Given the description of an element on the screen output the (x, y) to click on. 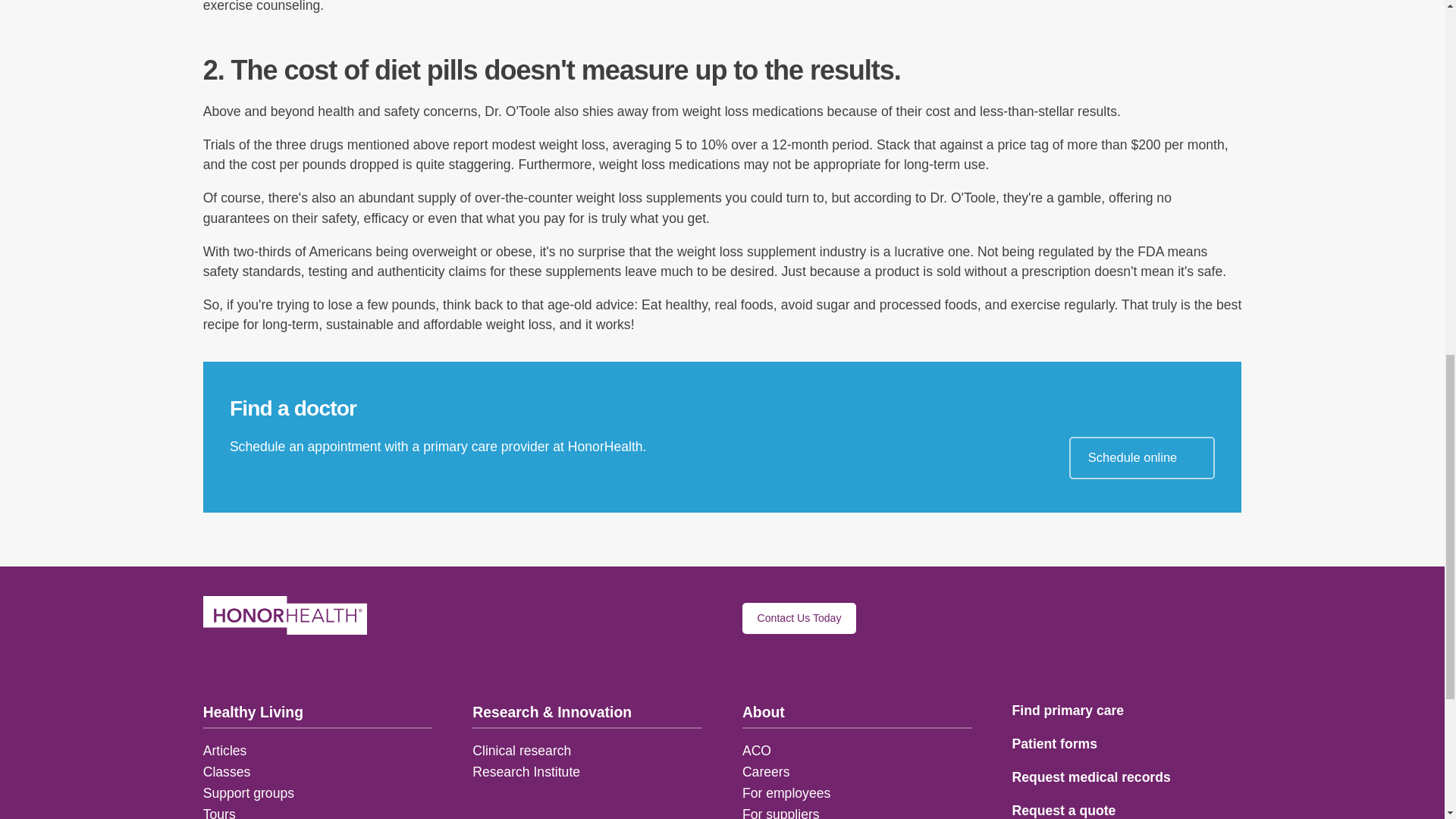
Support groups (248, 792)
Healthy Living (317, 712)
Visit HonorHealth's Instagram (522, 617)
Visit HonorHealth's Youtube Channel (597, 617)
Visit HonorHealth's Twitter (559, 617)
Visit HonorHealth's Facebook (483, 617)
Schedule online (1141, 457)
Contact Us Today (799, 617)
HonorHealth homepage (284, 617)
Tours (219, 812)
